Given the description of an element on the screen output the (x, y) to click on. 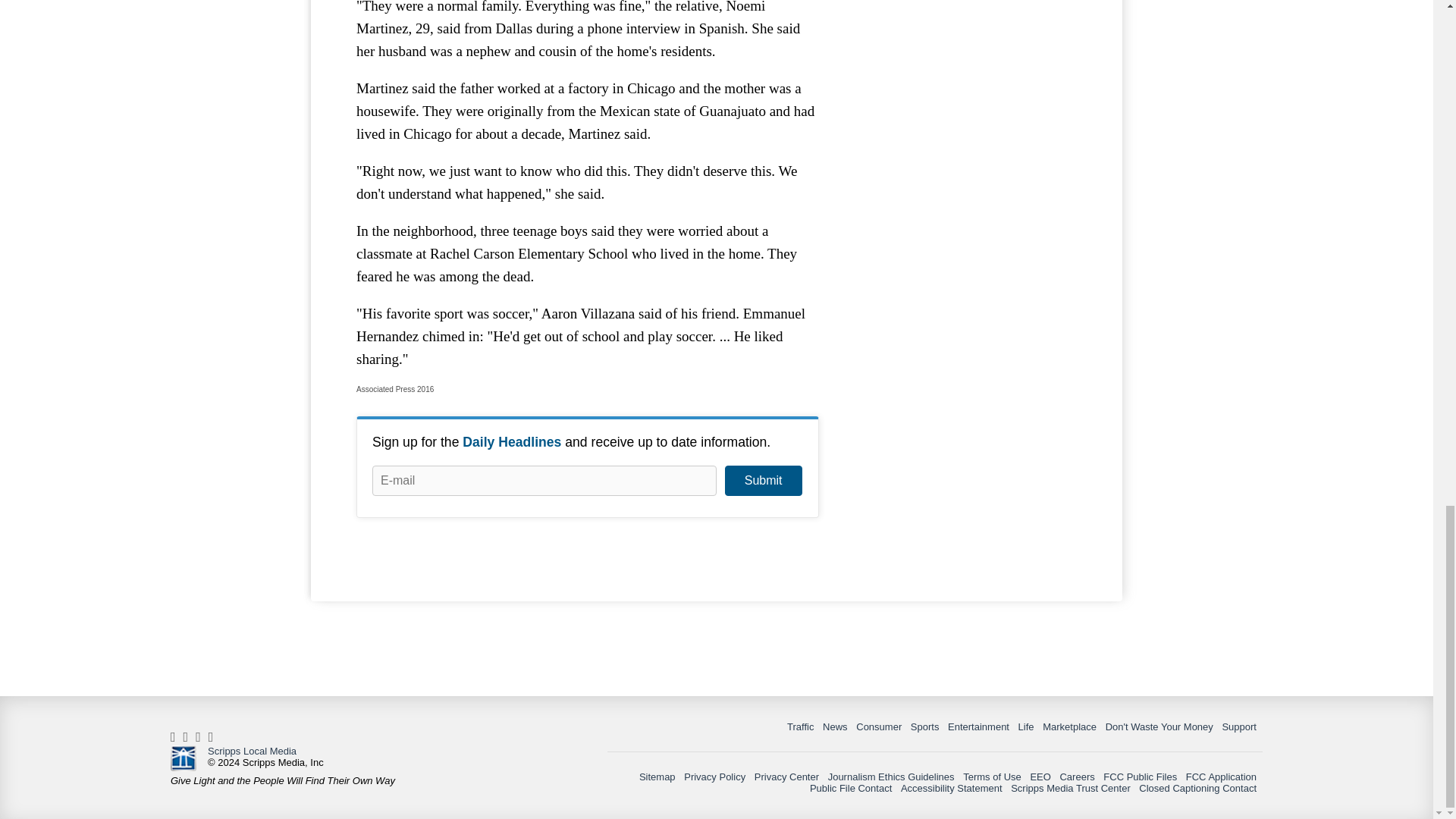
Submit (763, 481)
